Given the description of an element on the screen output the (x, y) to click on. 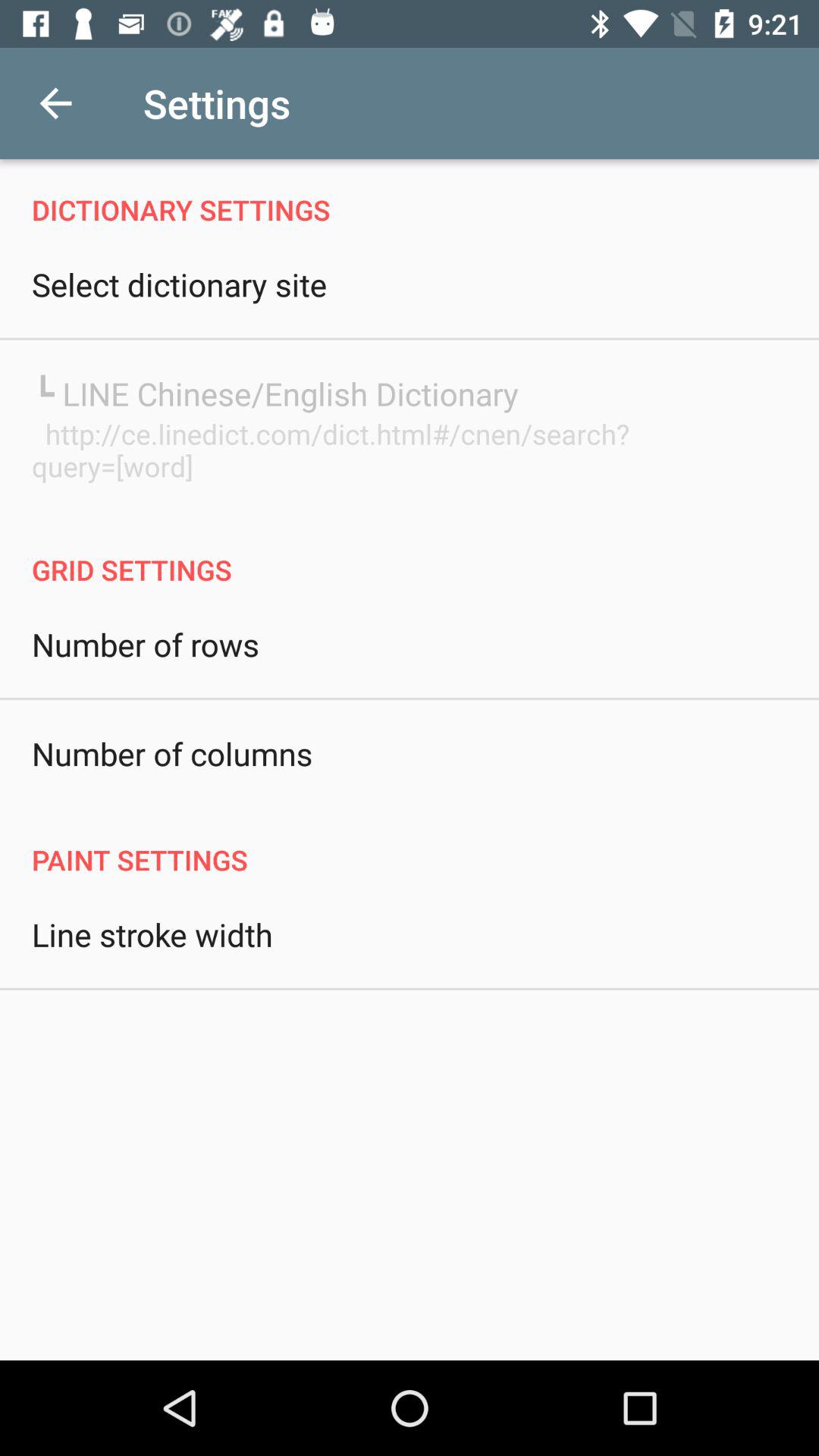
open the icon above line chinese english item (179, 283)
